Given the description of an element on the screen output the (x, y) to click on. 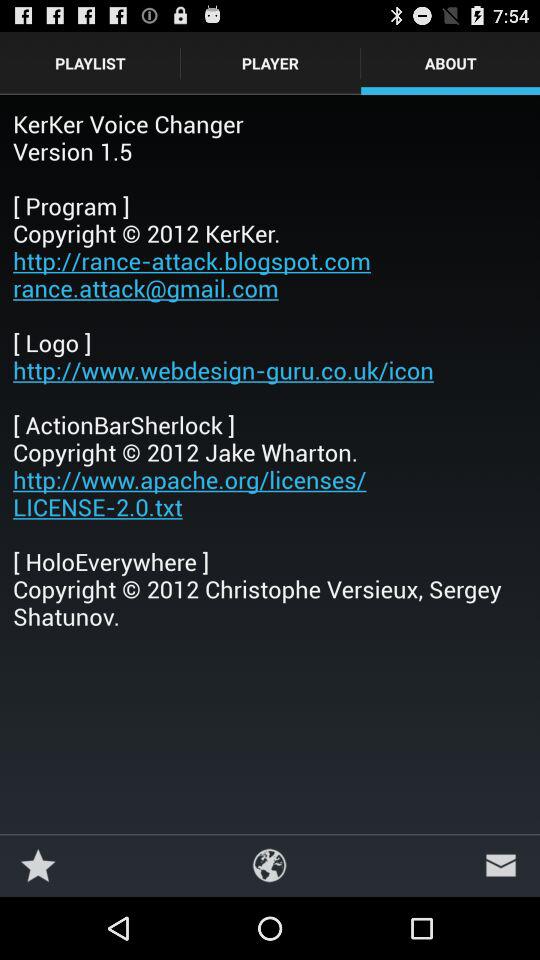
press icon at the bottom (269, 864)
